Given the description of an element on the screen output the (x, y) to click on. 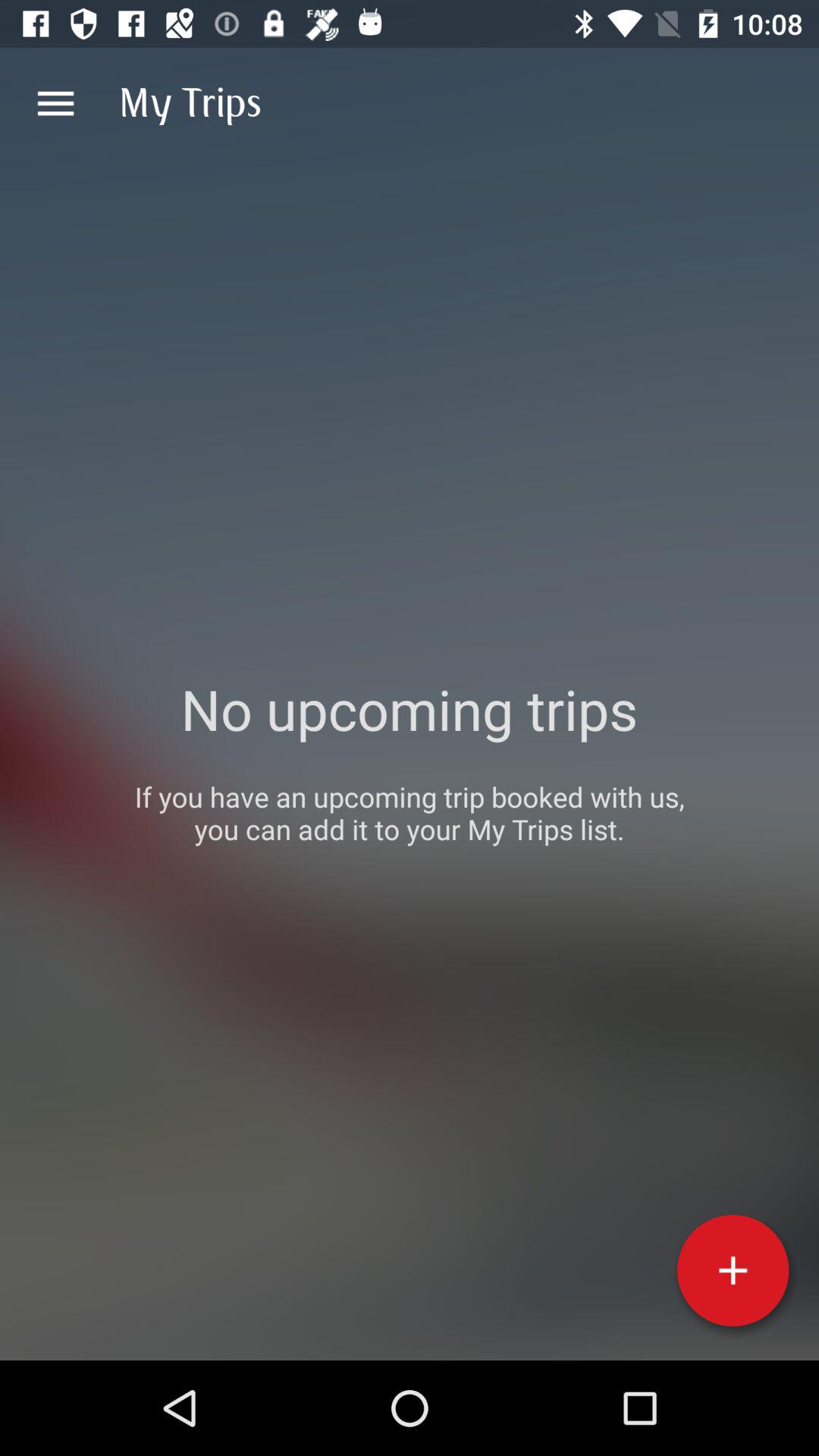
open item next to the my trips (55, 103)
